Given the description of an element on the screen output the (x, y) to click on. 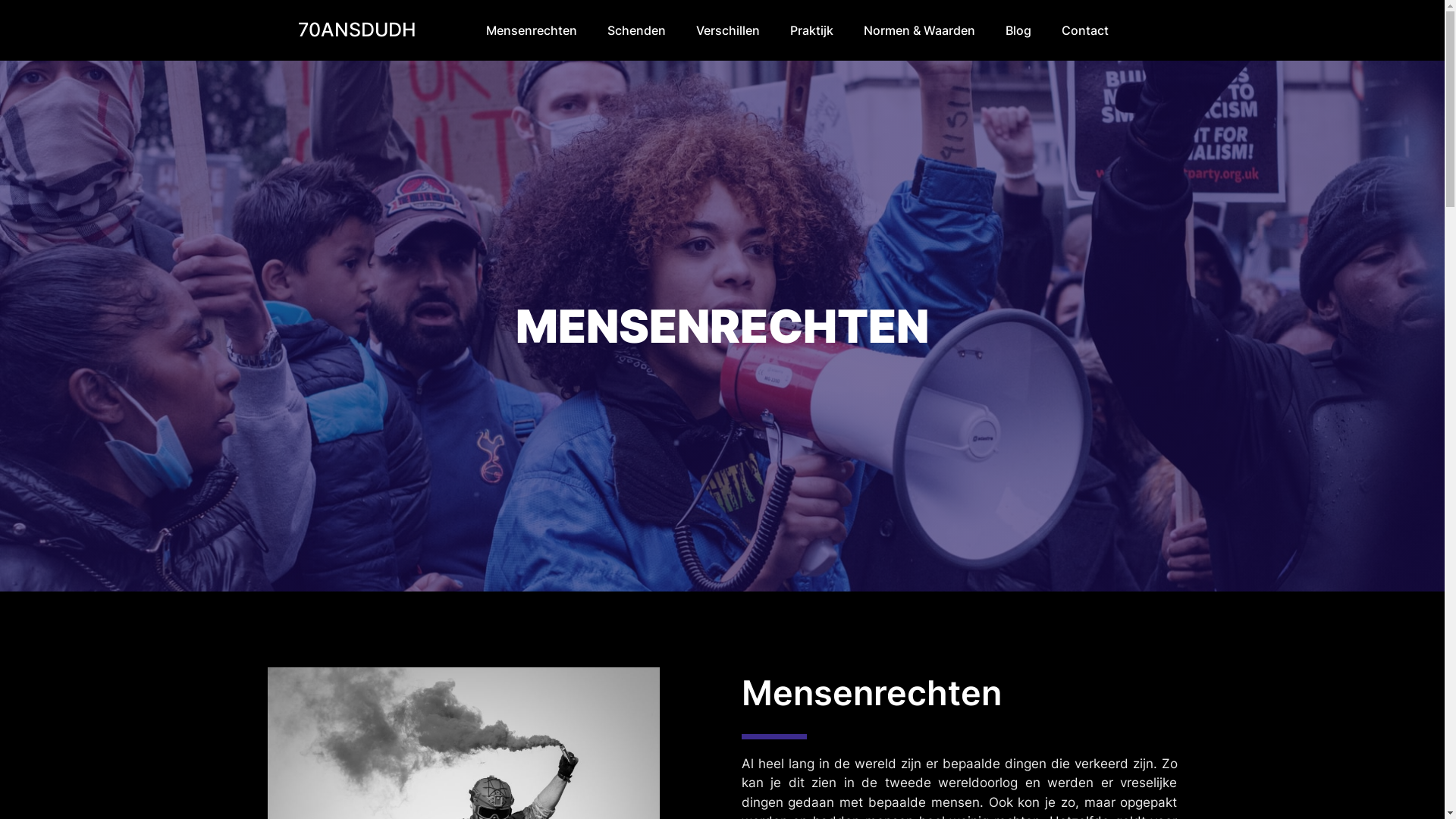
Normen & Waarden Element type: text (918, 29)
Praktijk Element type: text (811, 29)
Verschillen Element type: text (727, 29)
70ANSDUDH Element type: text (356, 29)
Mensenrechten Element type: text (530, 29)
Contact Element type: text (1084, 29)
Schenden Element type: text (635, 29)
Blog Element type: text (1018, 29)
